Given the description of an element on the screen output the (x, y) to click on. 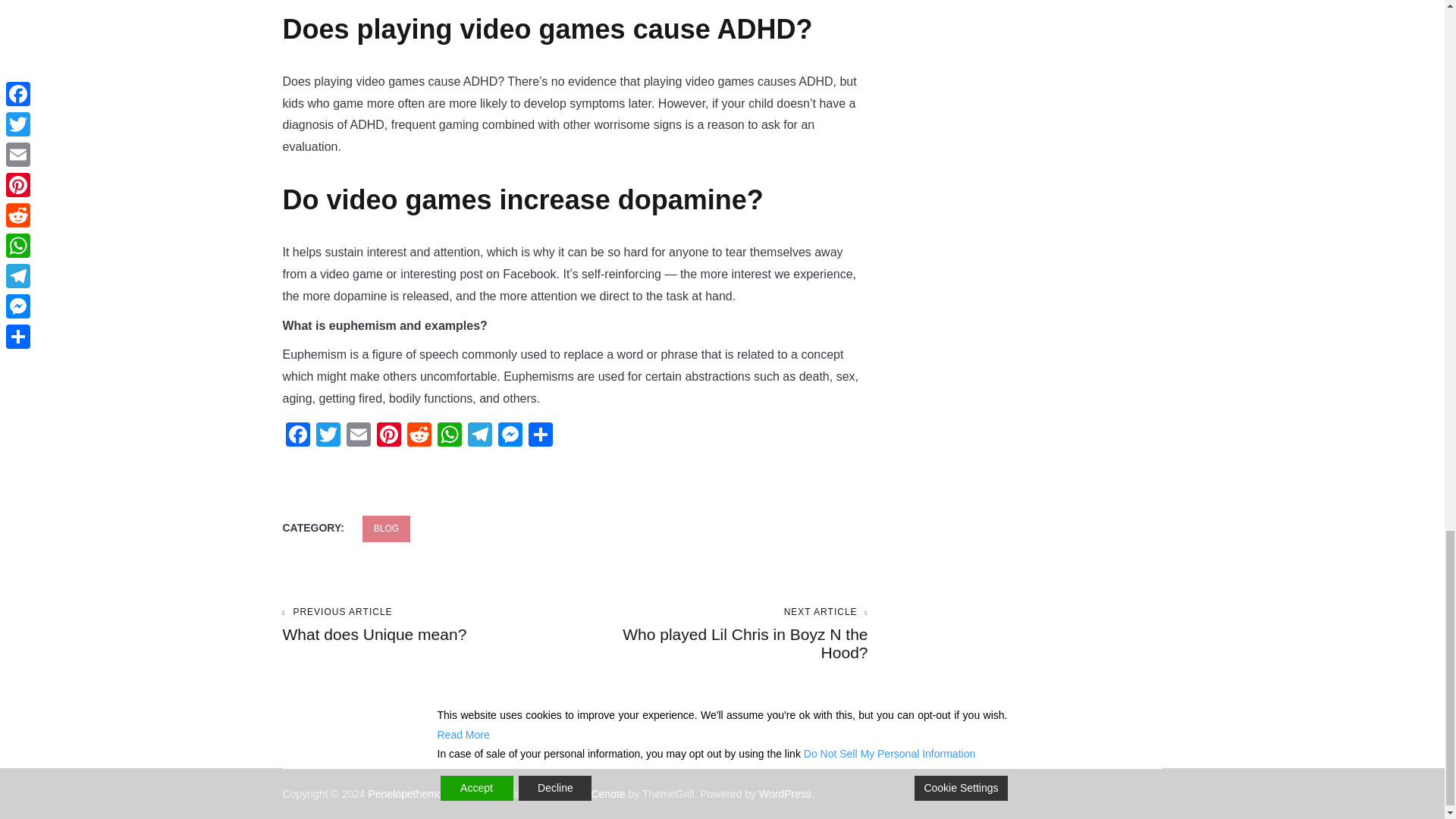
BLOG (386, 528)
Twitter (327, 436)
Share (539, 436)
Reddit (418, 436)
WhatsApp (448, 436)
Facebook (297, 436)
Facebook (297, 436)
Telegram (479, 436)
Messenger (509, 436)
Pinterest (387, 436)
Email (357, 436)
Messenger (721, 633)
Pinterest (509, 436)
Telegram (387, 436)
